Given the description of an element on the screen output the (x, y) to click on. 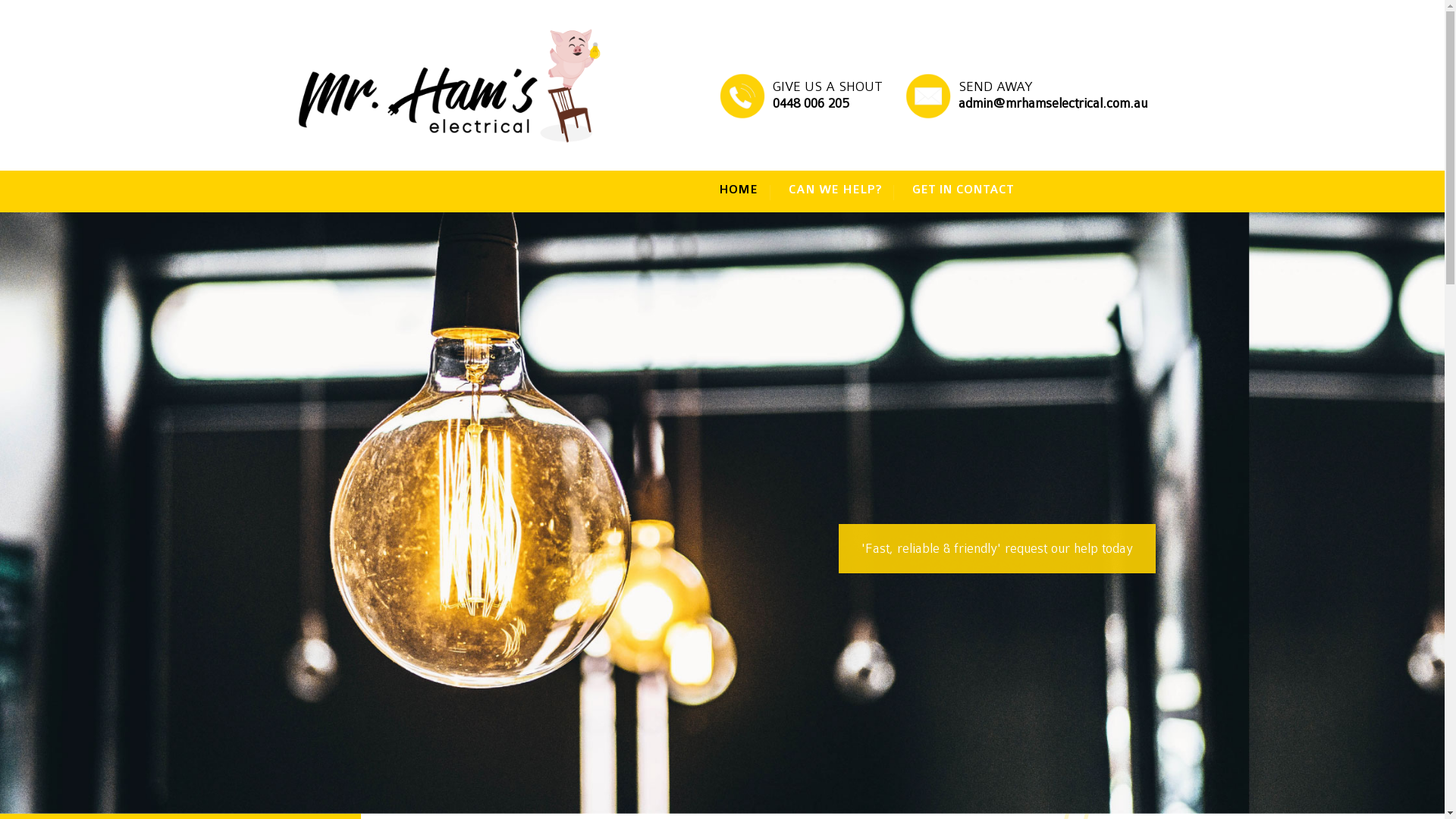
HOME Element type: text (744, 190)
CAN WE HELP? Element type: text (841, 190)
0448 006 205 Element type: text (809, 102)
admin@mrhamselectrical.com.au Element type: text (1052, 102)
GET IN CONTACT Element type: text (962, 190)
